Given the description of an element on the screen output the (x, y) to click on. 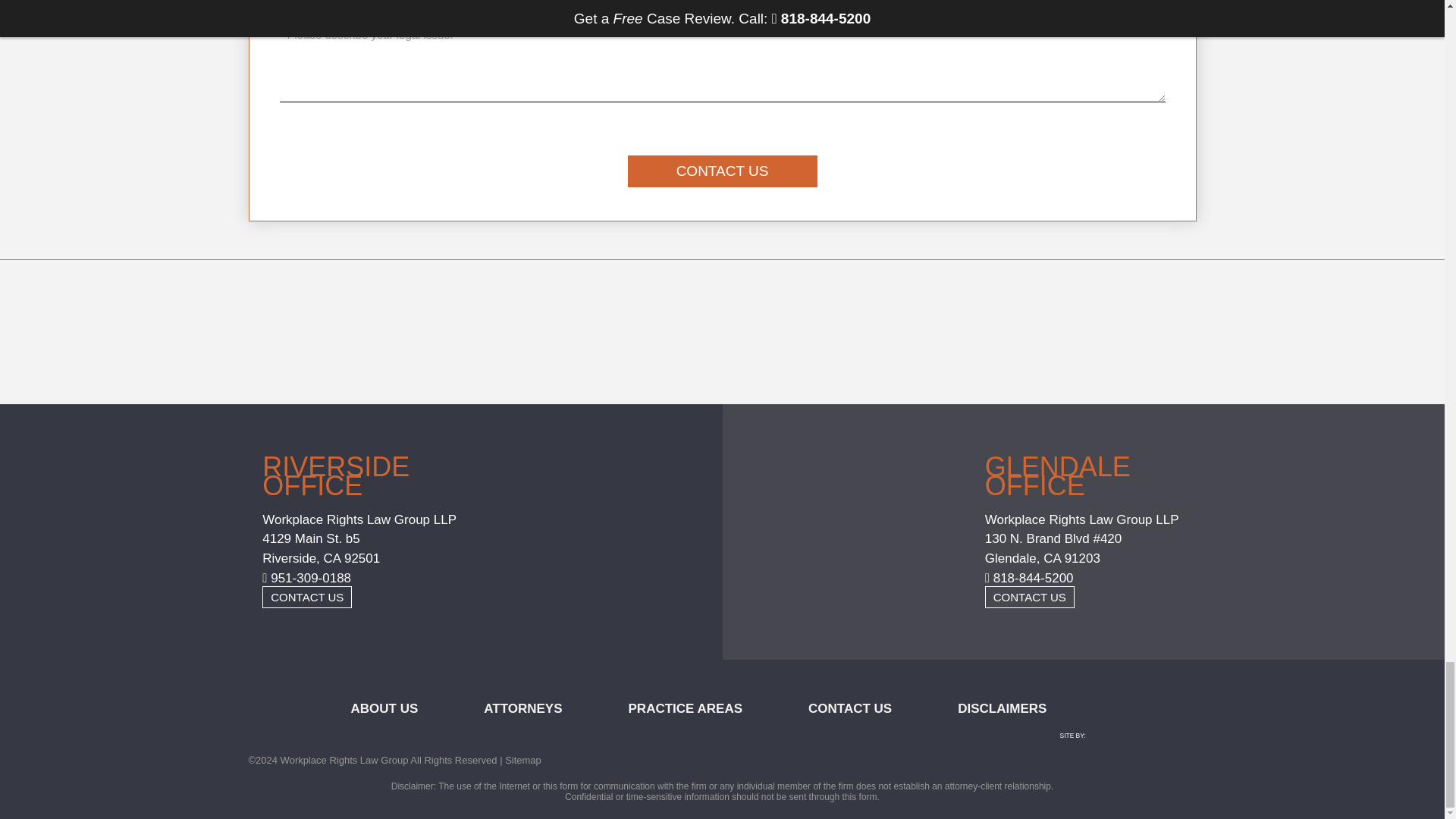
Contact Workplace Rights Law Group (307, 597)
Contact Workplace Rights Law Group (1029, 597)
Call our Riverside Office (306, 578)
Call our Glendale Office (1029, 578)
Contact Us (721, 171)
